Given the description of an element on the screen output the (x, y) to click on. 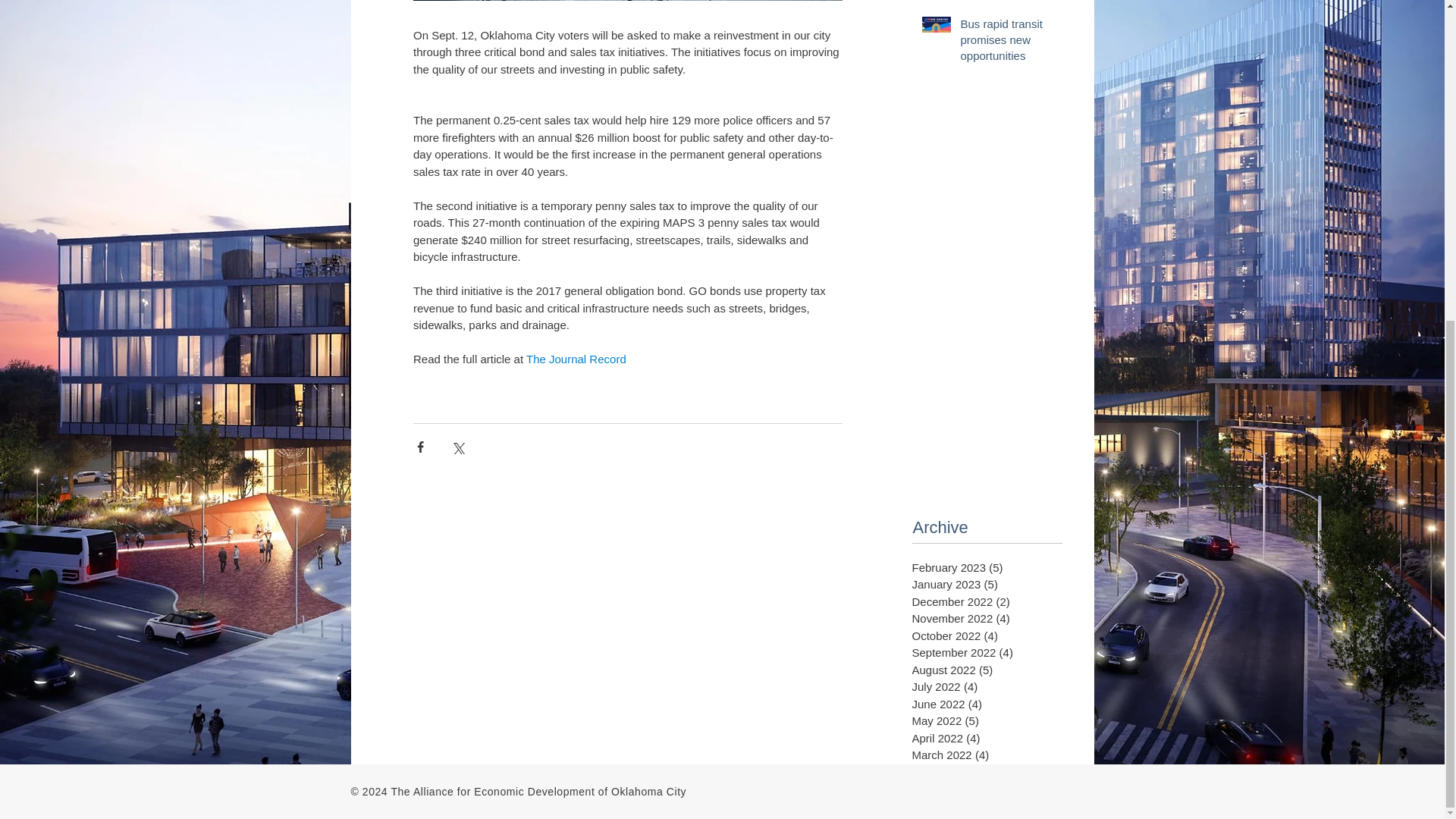
Bus rapid transit promises new opportunities (1013, 42)
The Journal Record (575, 358)
